Given the description of an element on the screen output the (x, y) to click on. 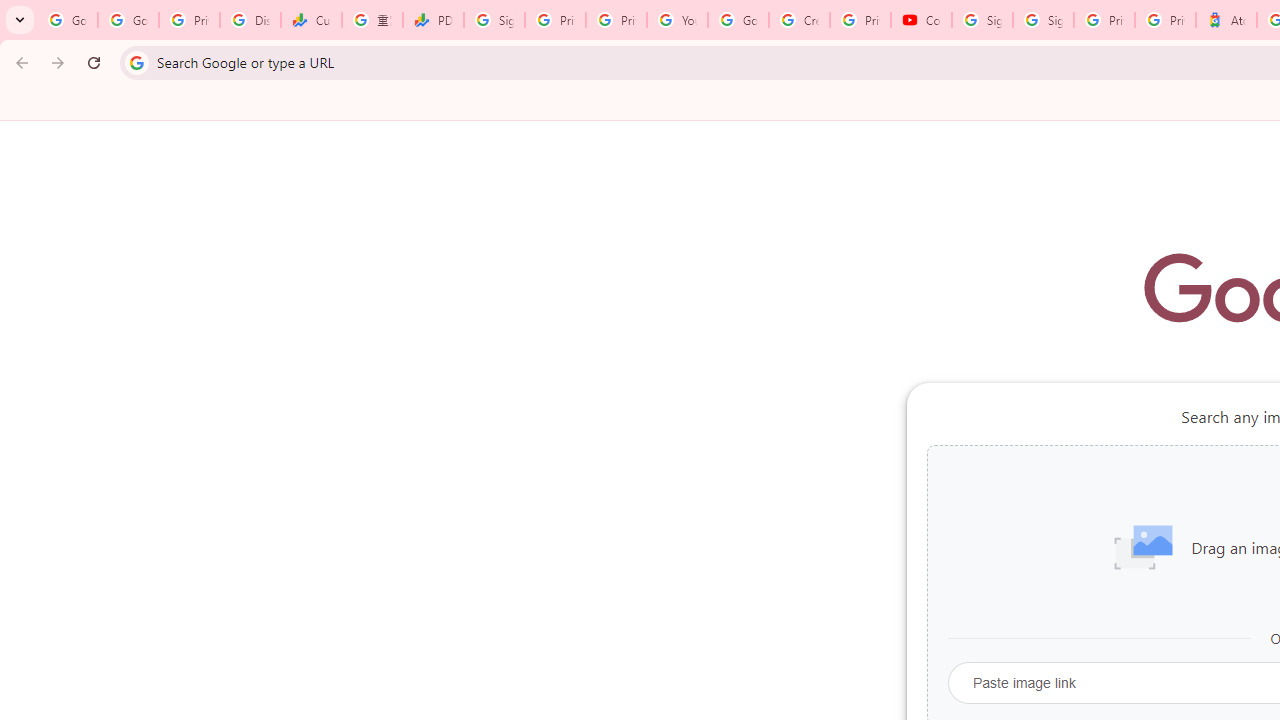
Google Workspace Admin Community (67, 20)
Content Creator Programs & Opportunities - YouTube Creators (921, 20)
Create your Google Account (799, 20)
Atour Hotel - Google hotels (1225, 20)
PDD Holdings Inc - ADR (PDD) Price & News - Google Finance (433, 20)
Sign in - Google Accounts (982, 20)
Google Account Help (738, 20)
